Given the description of an element on the screen output the (x, y) to click on. 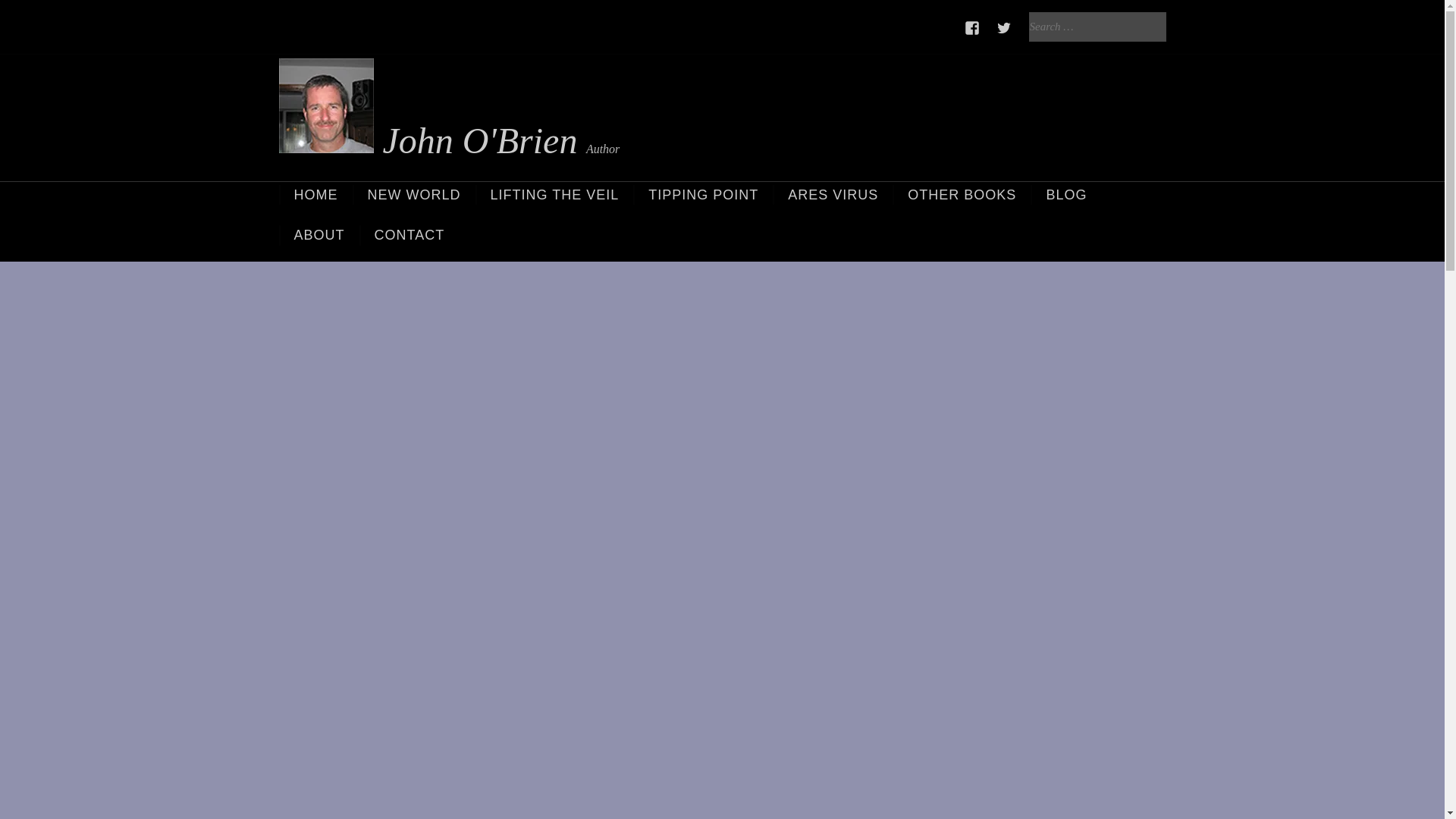
John O'Brien (428, 113)
Search (29, 14)
BLOG (1065, 194)
ARES VIRUS (832, 194)
LIFTING THE VEIL (554, 194)
Search for: (1096, 26)
TWITTER (1003, 28)
OTHER BOOKS (960, 194)
ABOUT (318, 234)
HOME (315, 194)
CONTACT (408, 234)
TIPPING POINT (702, 194)
NEW WORLD (413, 194)
FACEBOOK (971, 28)
